Given the description of an element on the screen output the (x, y) to click on. 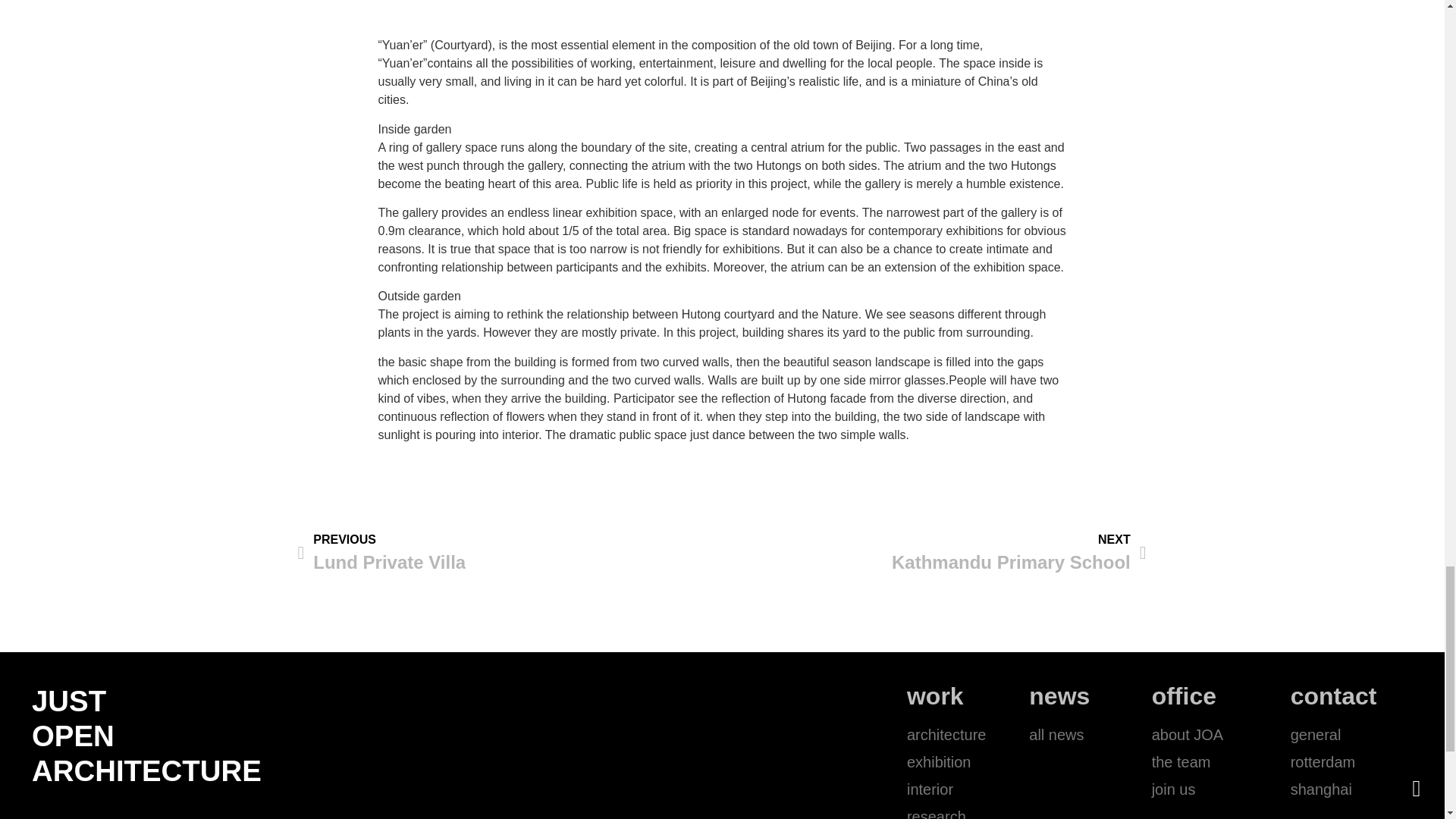
work (935, 696)
join us (509, 553)
exhibition (1220, 789)
office (934, 553)
general (947, 762)
about JOA (1183, 696)
all news (1351, 734)
research (1220, 734)
interior (1090, 734)
rotterdam (947, 812)
the team (947, 789)
architecture (1351, 762)
